Given the description of an element on the screen output the (x, y) to click on. 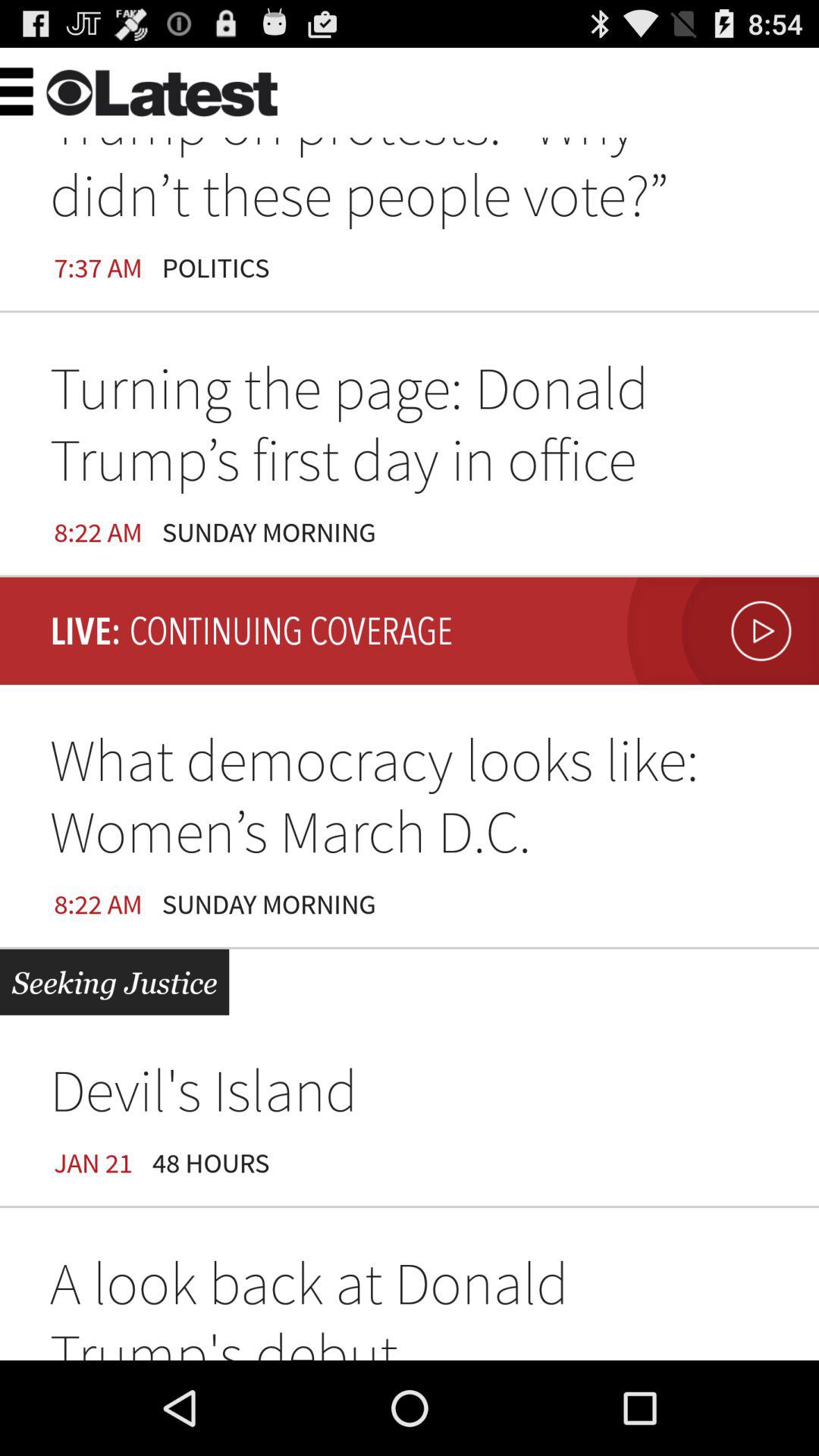
press the item above 7:37 am (49, 89)
